Given the description of an element on the screen output the (x, y) to click on. 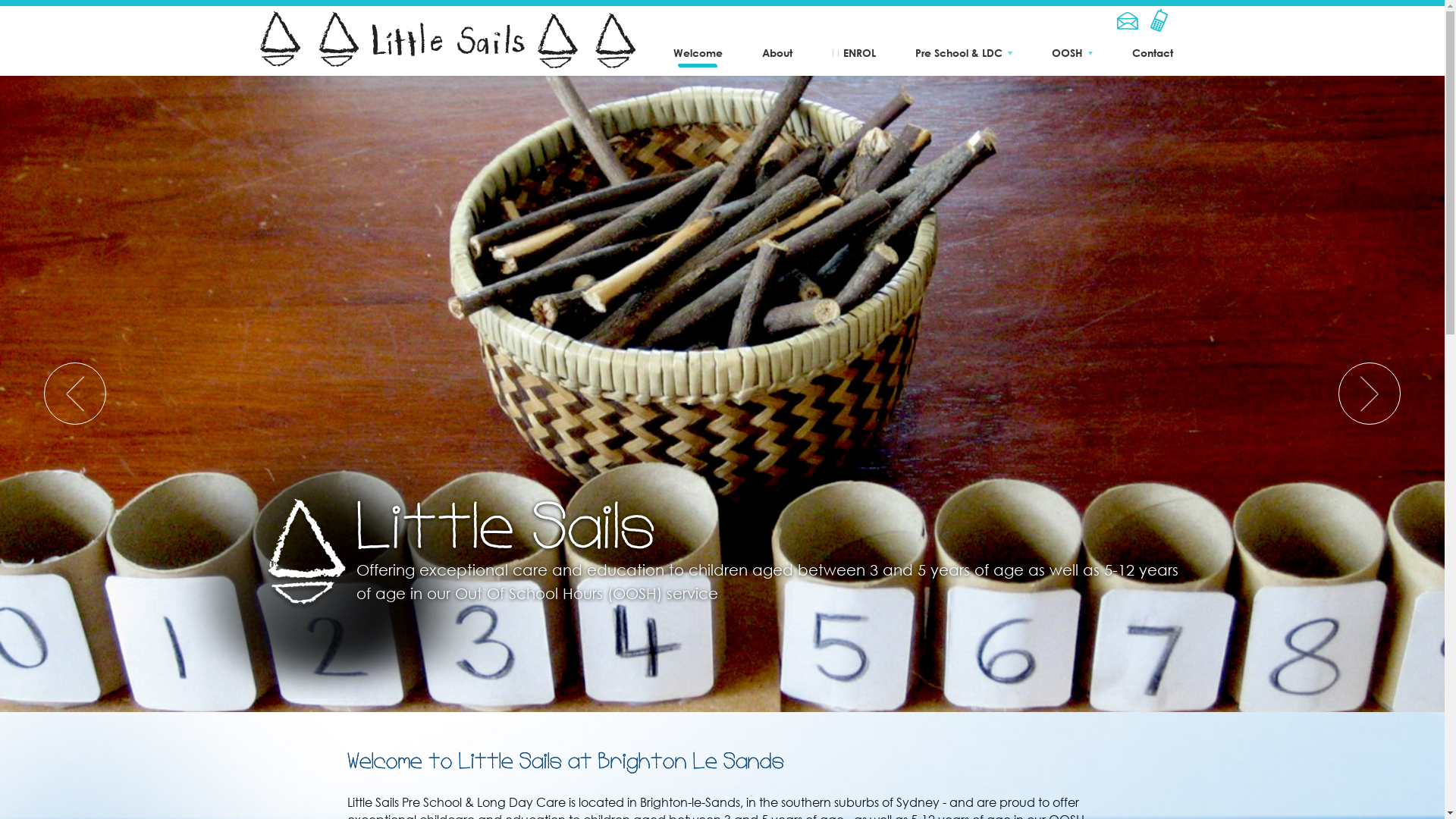
Welcome Element type: text (697, 52)
About Element type: text (776, 52)
Contact Element type: text (1151, 52)
Pre School & LDC Element type: text (962, 52)
OOSH Element type: text (1071, 52)
